Given the description of an element on the screen output the (x, y) to click on. 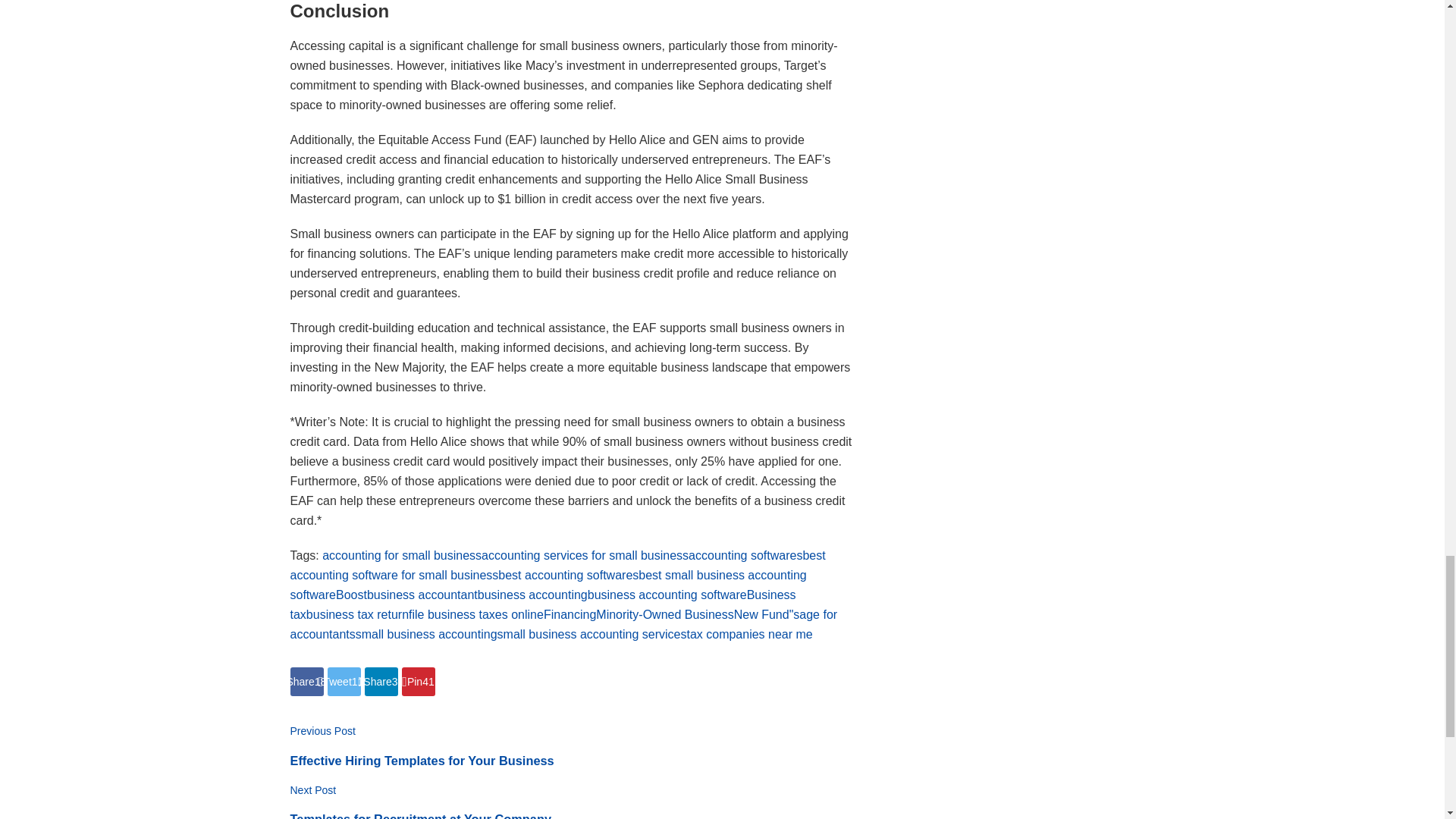
accounting for small business (401, 554)
